Given the description of an element on the screen output the (x, y) to click on. 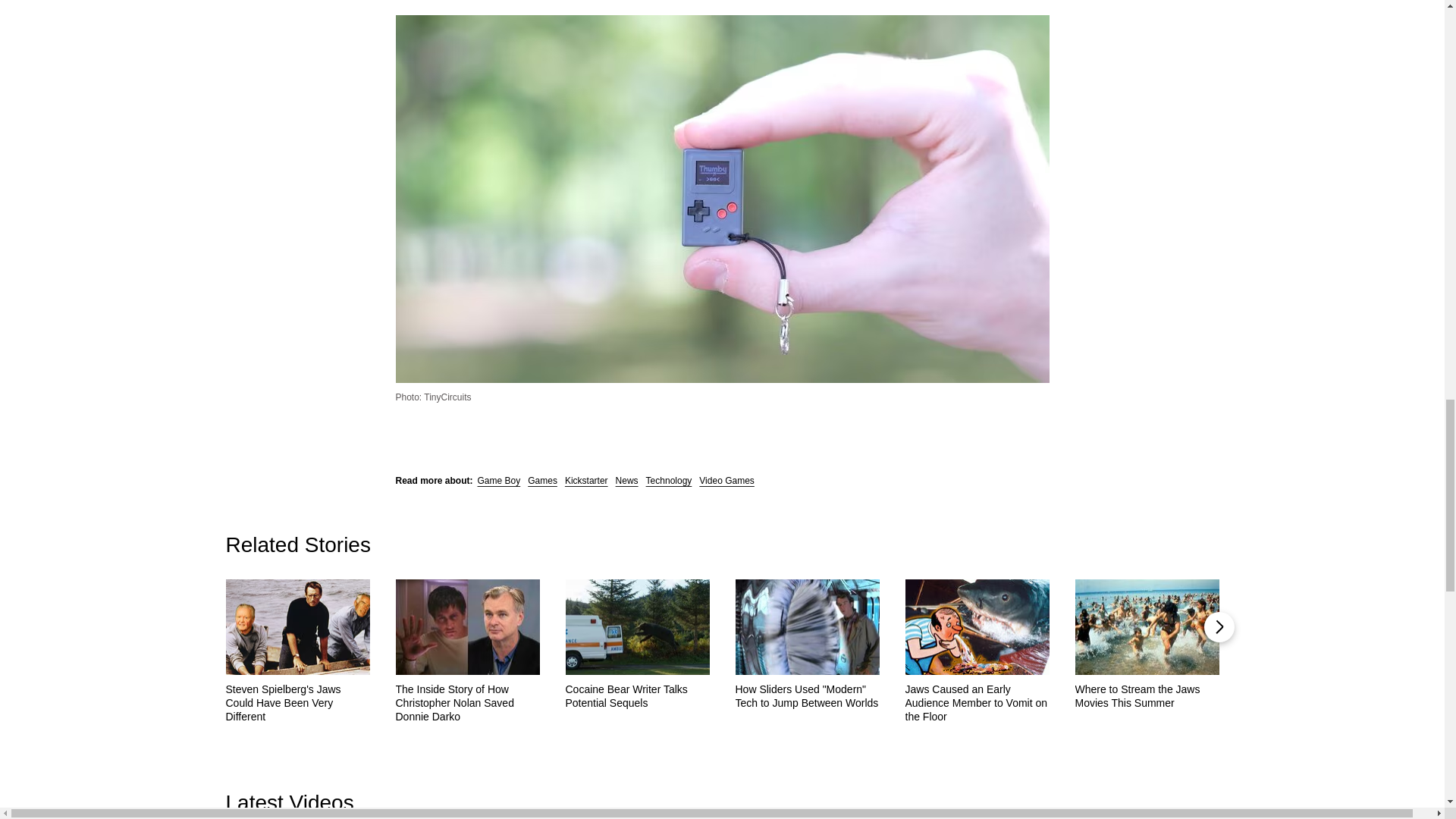
Kickstarter (586, 480)
Technology (669, 480)
The Inside Story of How Christopher Nolan Saved Donnie Darko (468, 702)
Game Boy (499, 480)
Steven Spielberg's Jaws Could Have Been Very Different (297, 702)
Video Games (726, 480)
Games (542, 480)
News (627, 480)
